Given the description of an element on the screen output the (x, y) to click on. 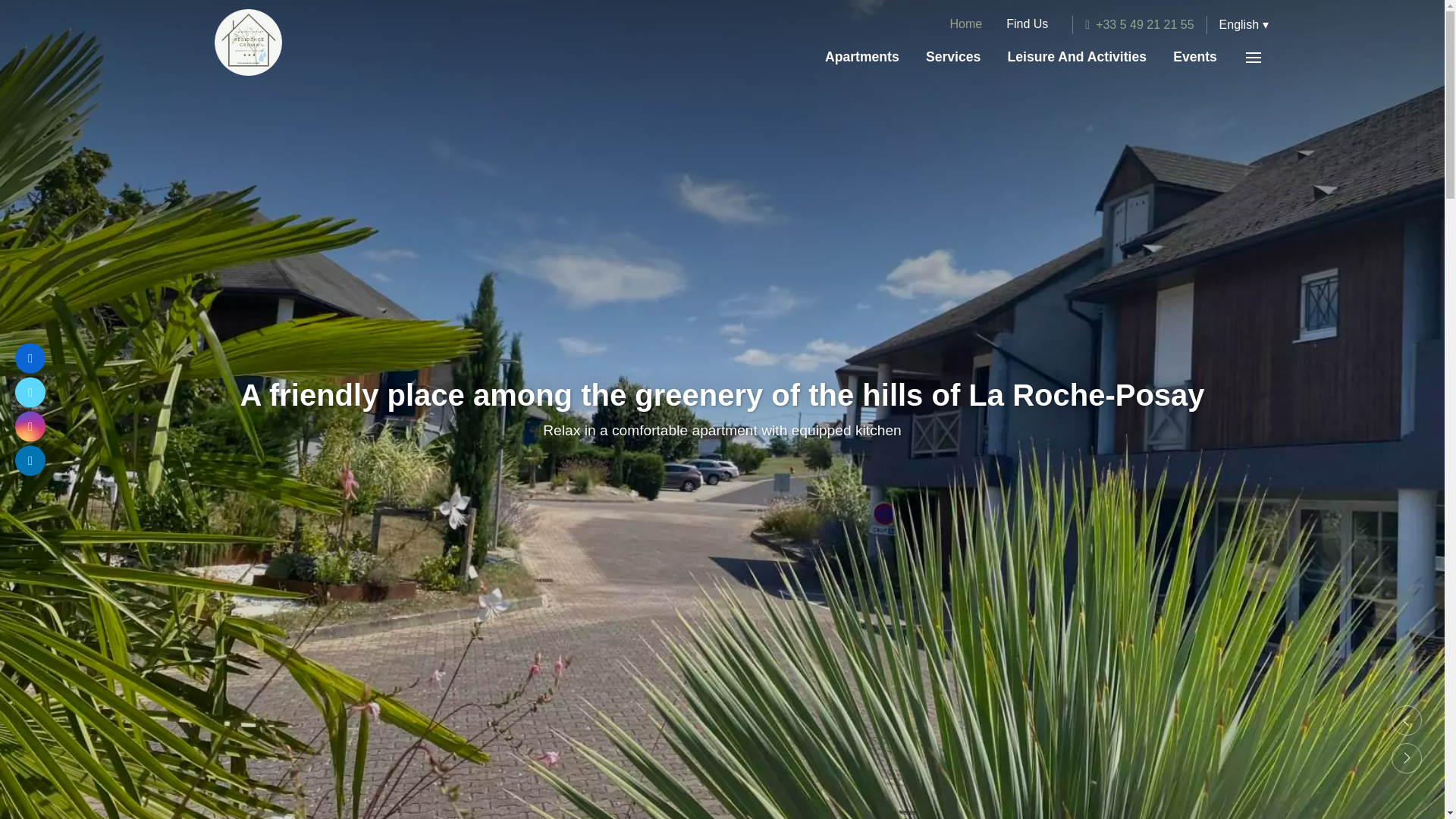
Leisure And Activities (1077, 57)
Find Us (1026, 24)
Apartments (861, 57)
Services (953, 57)
Home (965, 24)
English (1244, 24)
Events (1195, 57)
